Given the description of an element on the screen output the (x, y) to click on. 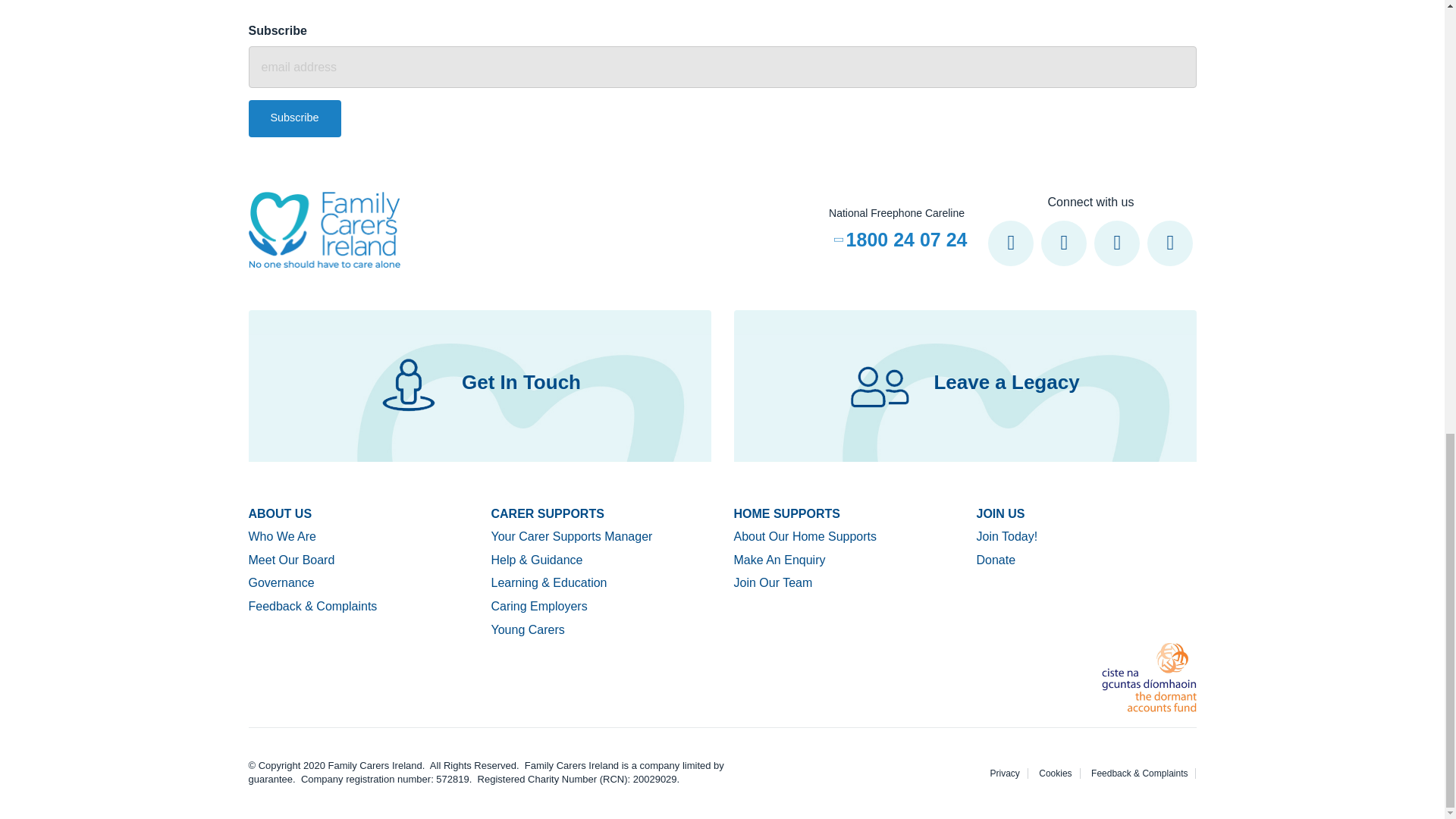
Subscribe (294, 117)
